Given the description of an element on the screen output the (x, y) to click on. 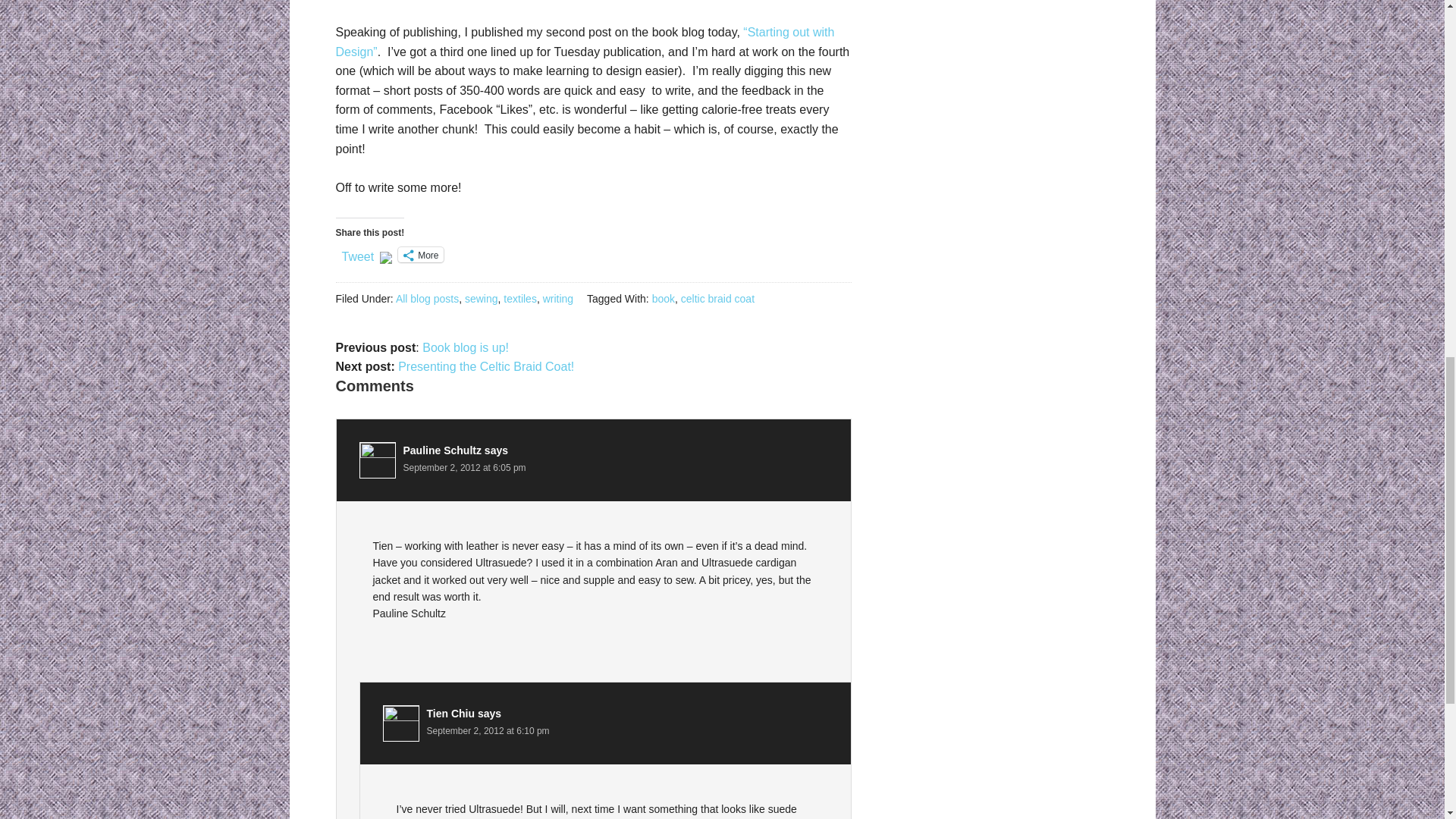
book (663, 298)
Tweet (357, 254)
textiles (520, 298)
September 2, 2012 at 6:05 pm (464, 467)
September 2, 2012 at 6:10 pm (487, 730)
sewing (480, 298)
Book blog is up! (465, 347)
Presenting the Celtic Braid Coat! (485, 366)
All blog posts (427, 298)
More (419, 254)
celtic braid coat (717, 298)
writing (558, 298)
